Given the description of an element on the screen output the (x, y) to click on. 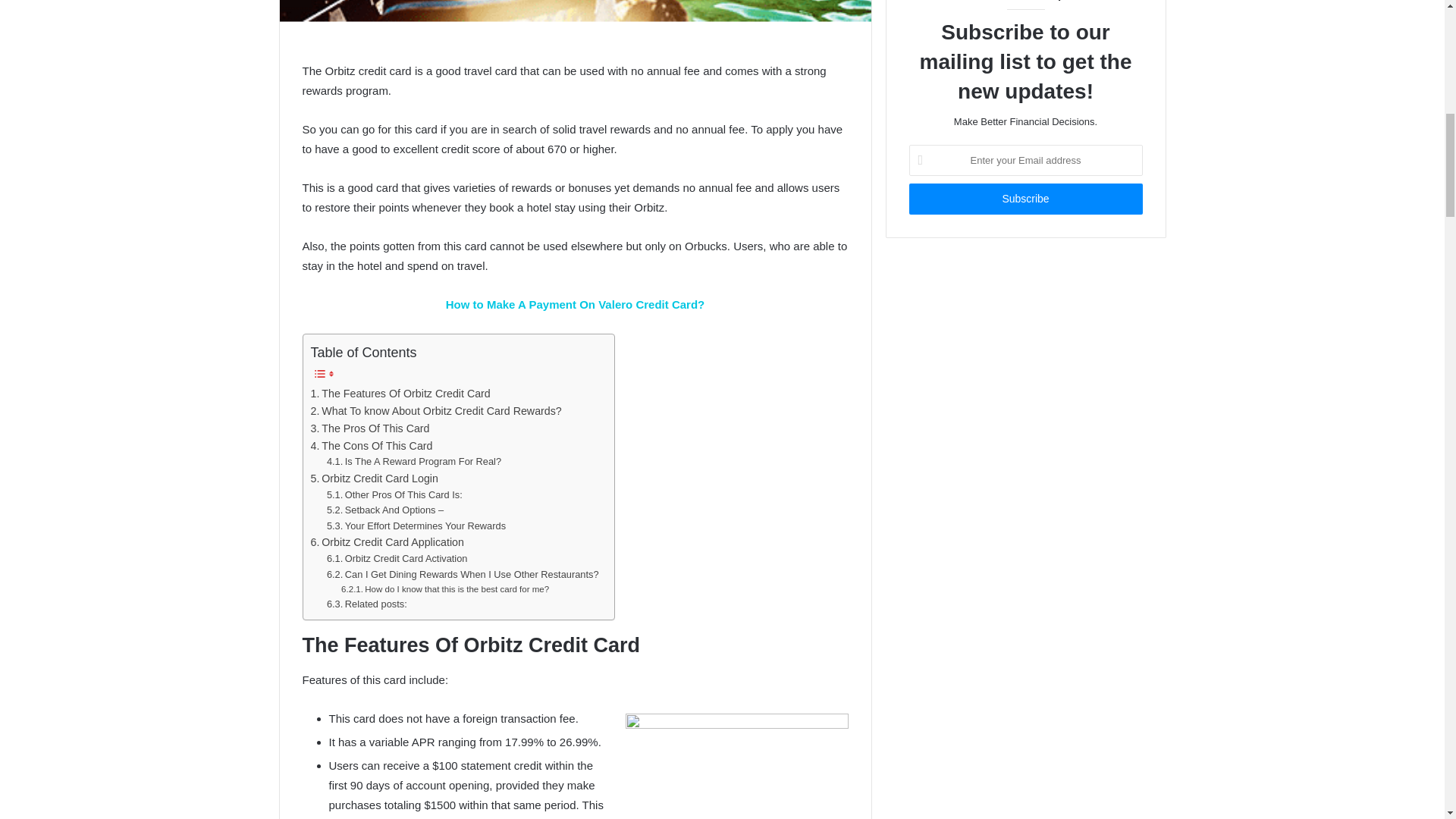
Your Effort Determines Your Rewards (415, 526)
Is The A Reward Program For Real? (413, 462)
Related posts: (366, 604)
The Features Of Orbitz Credit Card (400, 393)
The Cons Of This Card (371, 446)
The Pros Of This Card (370, 428)
What To know About Orbitz Credit Card Rewards? (436, 411)
Is The A Reward Program For Real? (413, 462)
Subscribe (1025, 198)
How to Make A Payment On Valero Credit Card? (574, 304)
